Given the description of an element on the screen output the (x, y) to click on. 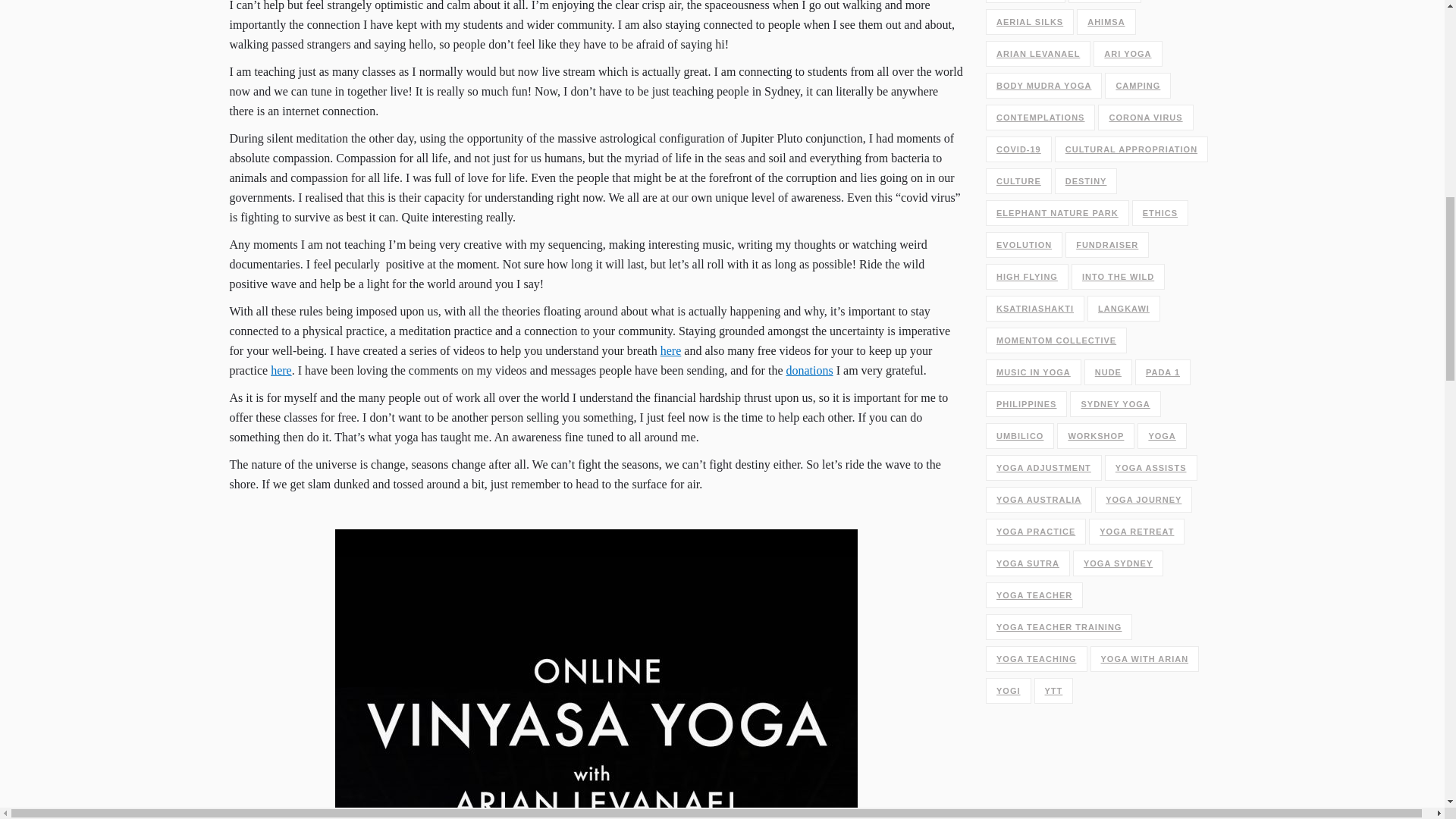
here (281, 369)
donations (809, 369)
here (671, 350)
